Given the description of an element on the screen output the (x, y) to click on. 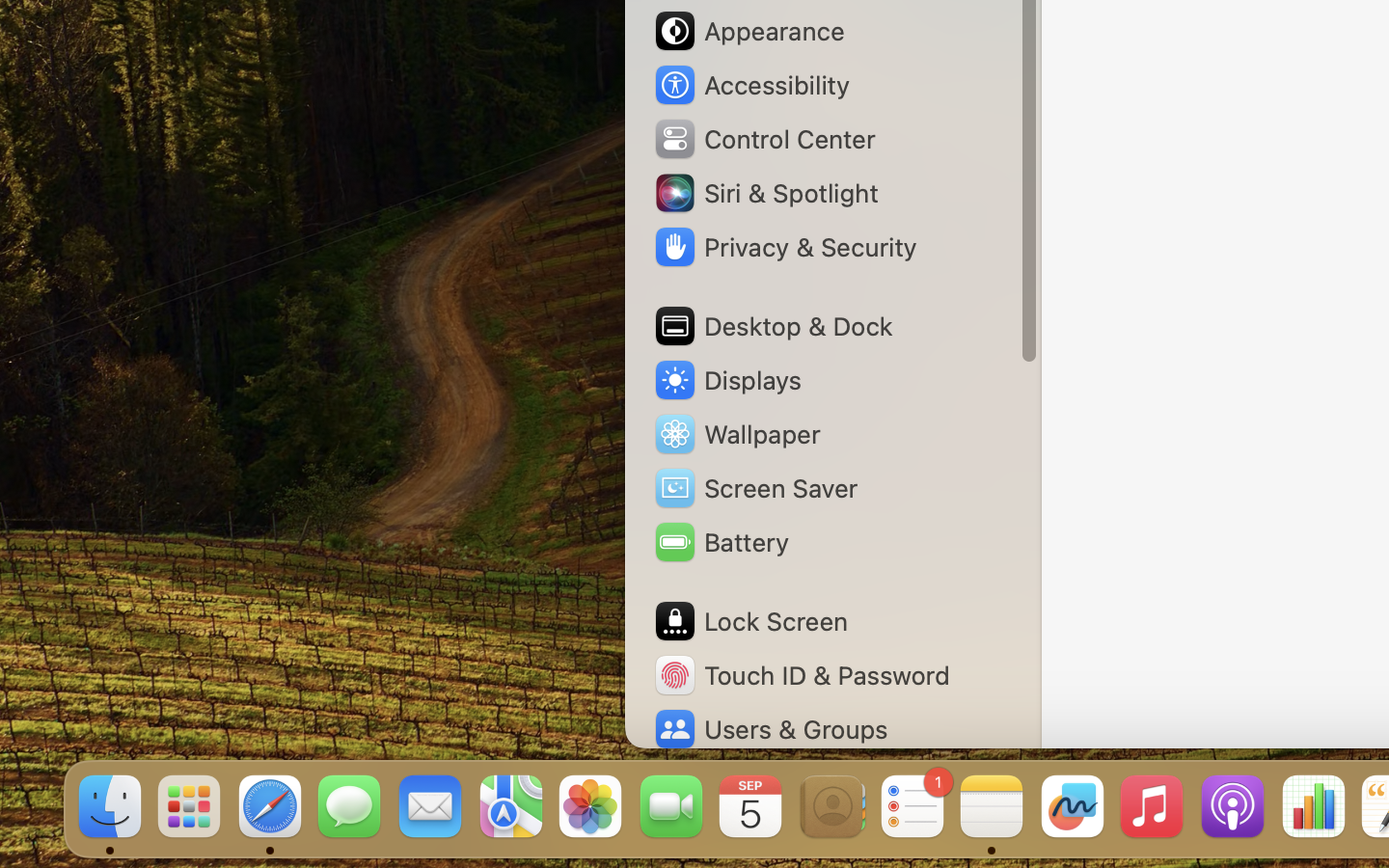
Battery Element type: AXStaticText (720, 541)
Wallpaper Element type: AXStaticText (735, 433)
Users & Groups Element type: AXStaticText (769, 728)
Privacy & Security Element type: AXStaticText (784, 246)
Appearance Element type: AXStaticText (748, 30)
